Given the description of an element on the screen output the (x, y) to click on. 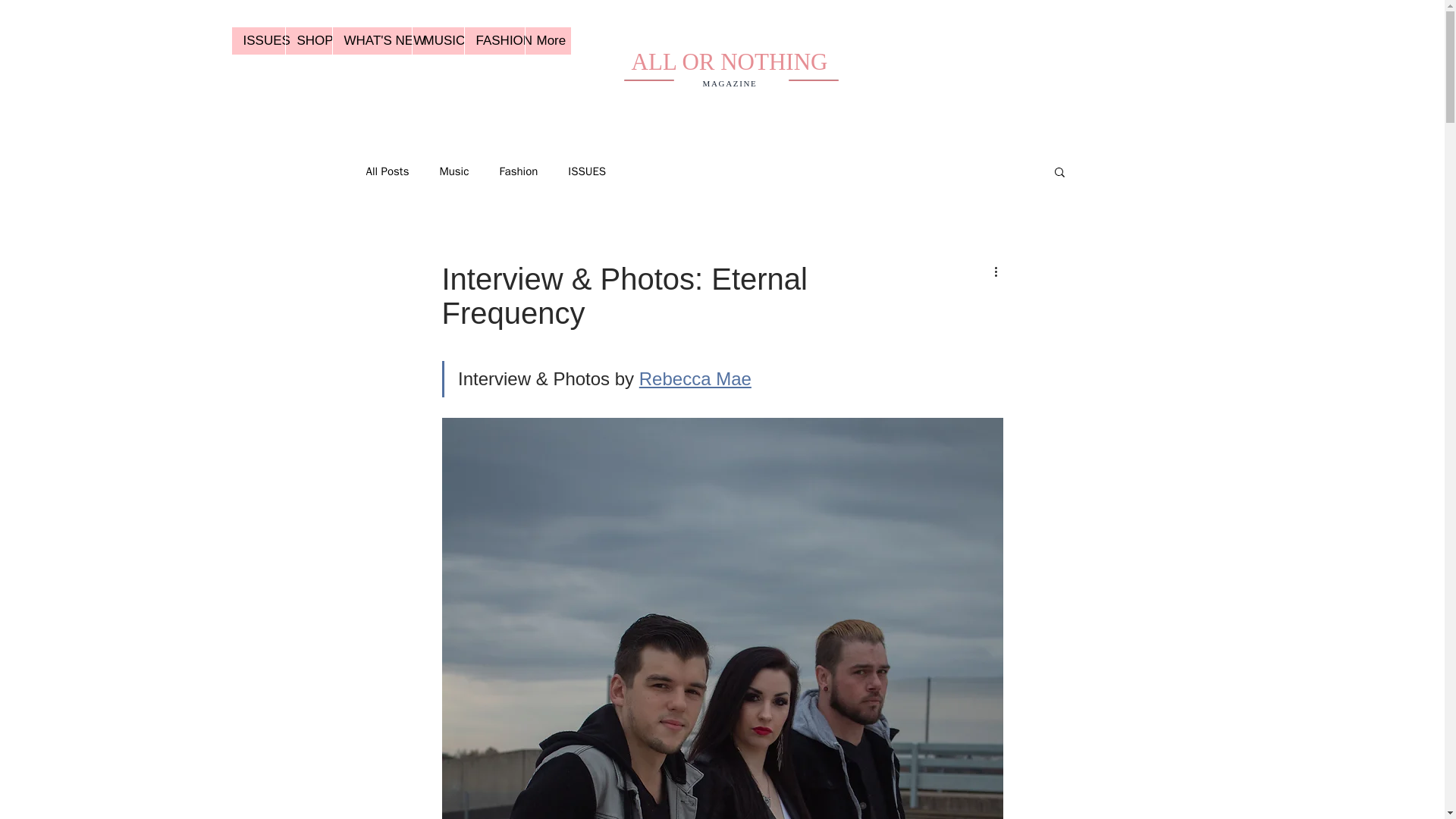
All Posts (387, 170)
Fashion (518, 170)
MAGAZINE (730, 82)
Rebecca Mae (695, 378)
ISSUES (258, 40)
Music (453, 170)
FASHION (494, 40)
ISSUES (586, 170)
MUSIC (436, 40)
ALL OR NOTHING (729, 61)
WHAT'S NEW (371, 40)
SHOP (308, 40)
